Given the description of an element on the screen output the (x, y) to click on. 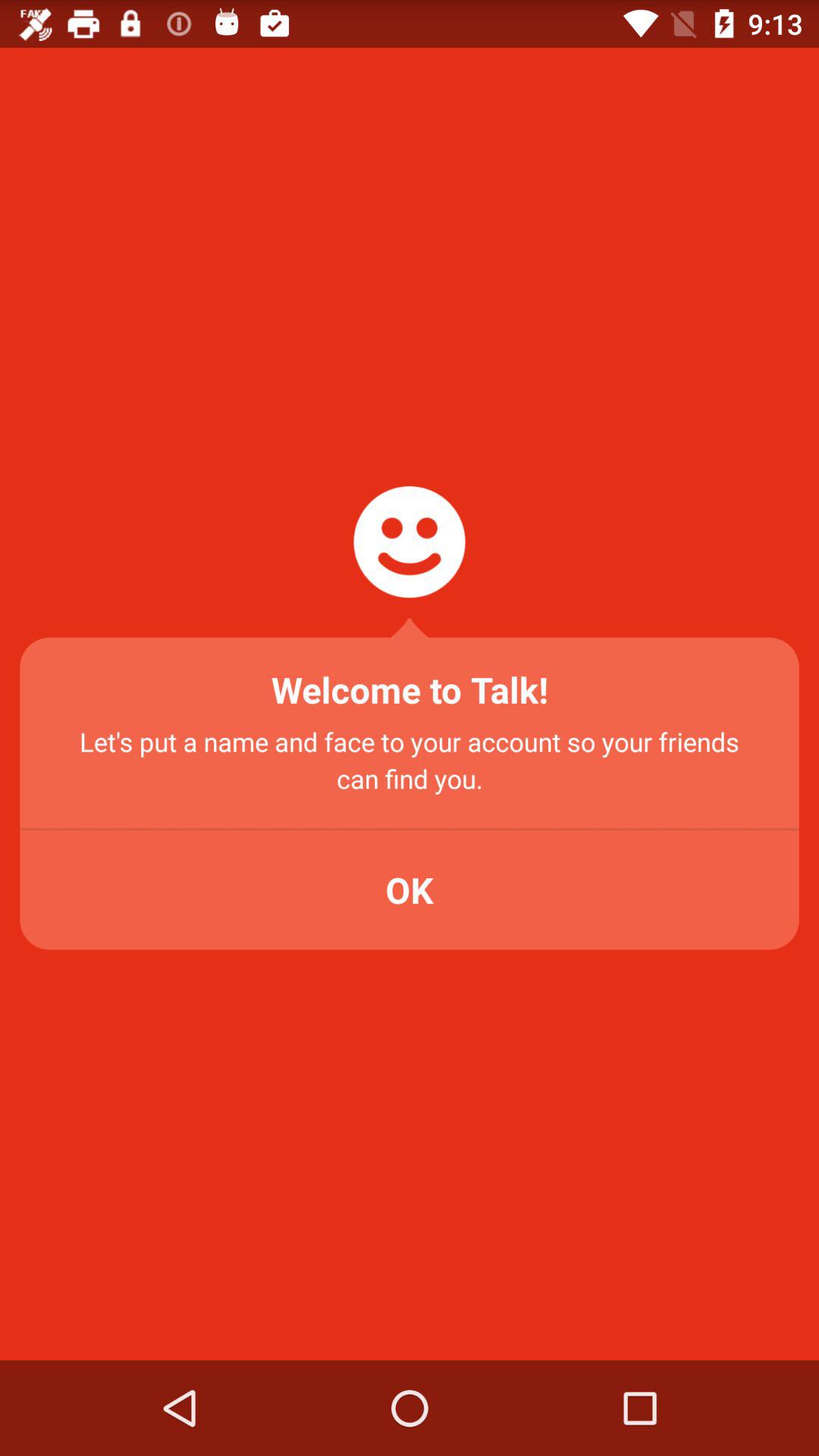
select ok (409, 889)
